Given the description of an element on the screen output the (x, y) to click on. 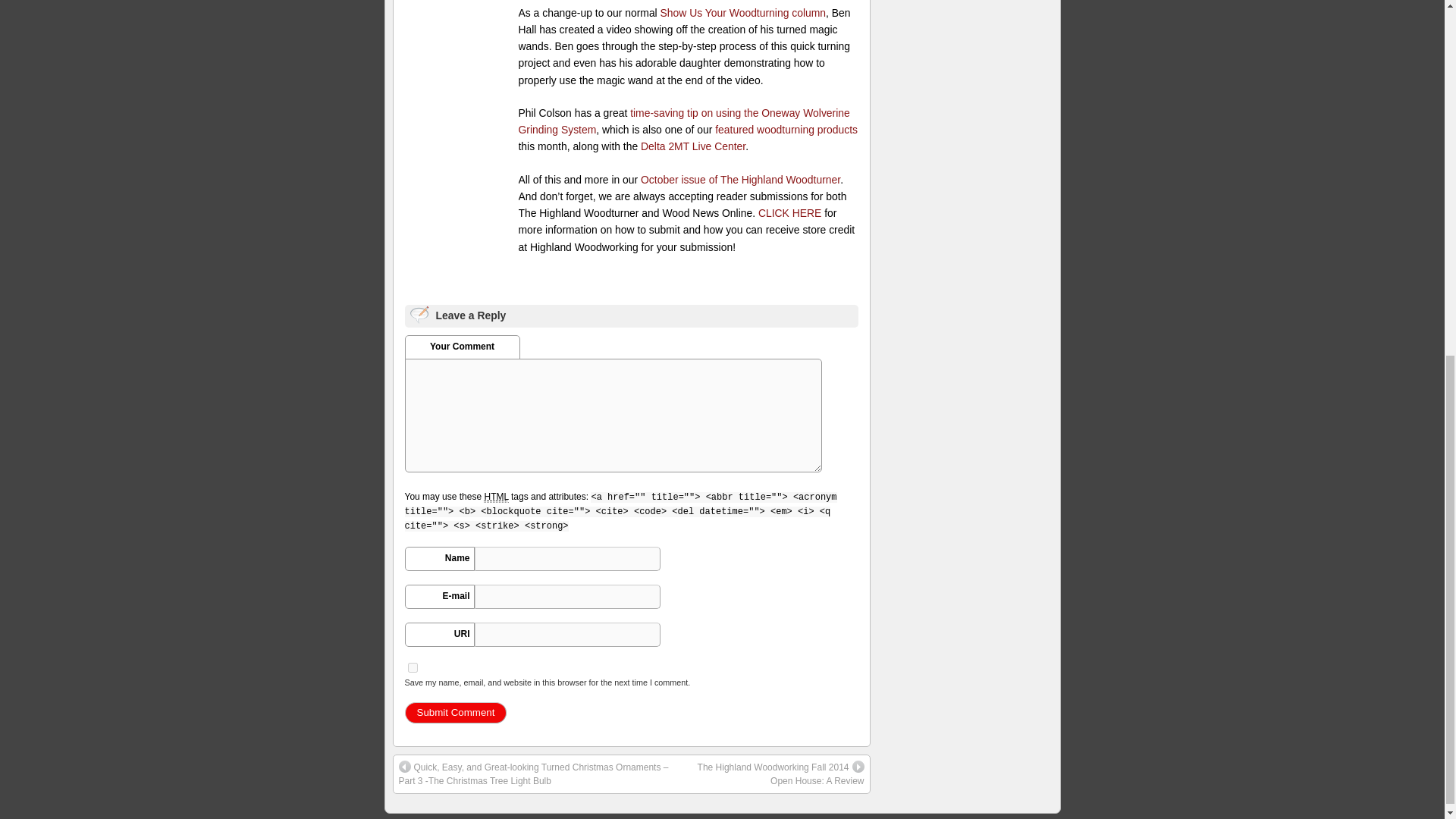
yes (412, 667)
  The Highland Woodworking Fall 2014 Open House: A Review (771, 773)
October issue of The Highland Woodturner (740, 179)
Delta 2MT Live Center (692, 146)
Submit Comment (455, 712)
CLICK HERE (789, 213)
featured woodturning products (785, 129)
Submit Comment (455, 712)
Show Us Your Woodturning column (744, 12)
